Given the description of an element on the screen output the (x, y) to click on. 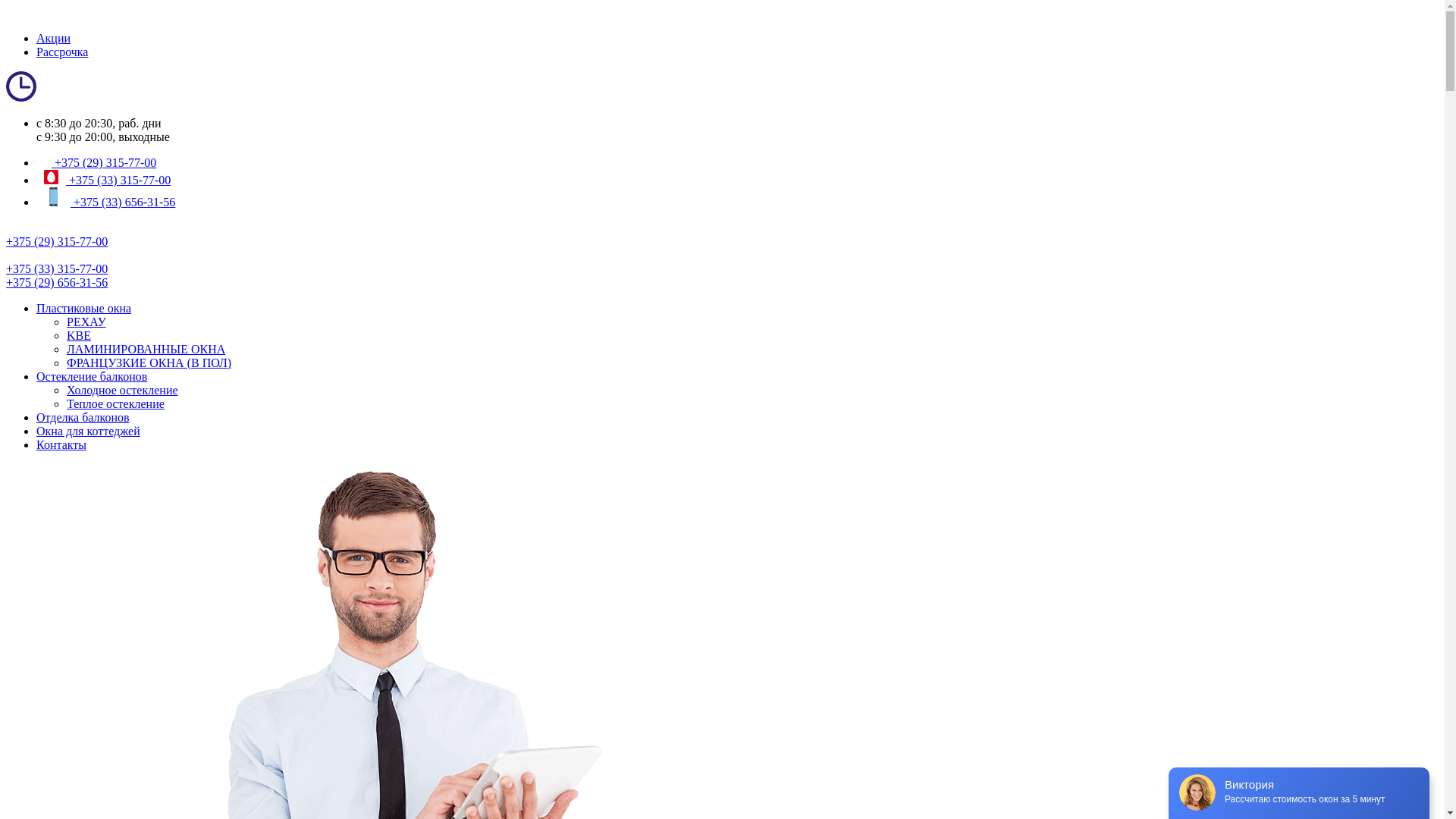
+375 (33) 315-77-00 Element type: text (117, 179)
+375 (29) 315-77-00 Element type: text (56, 241)
+375 (33) 315-77-00 Element type: text (56, 268)
+375 (29) 315-77-00 Element type: text (103, 162)
+375 (33) 656-31-56 Element type: text (122, 201)
+375 (29) 656-31-56 Element type: text (56, 282)
KBE Element type: text (78, 335)
